Given the description of an element on the screen output the (x, y) to click on. 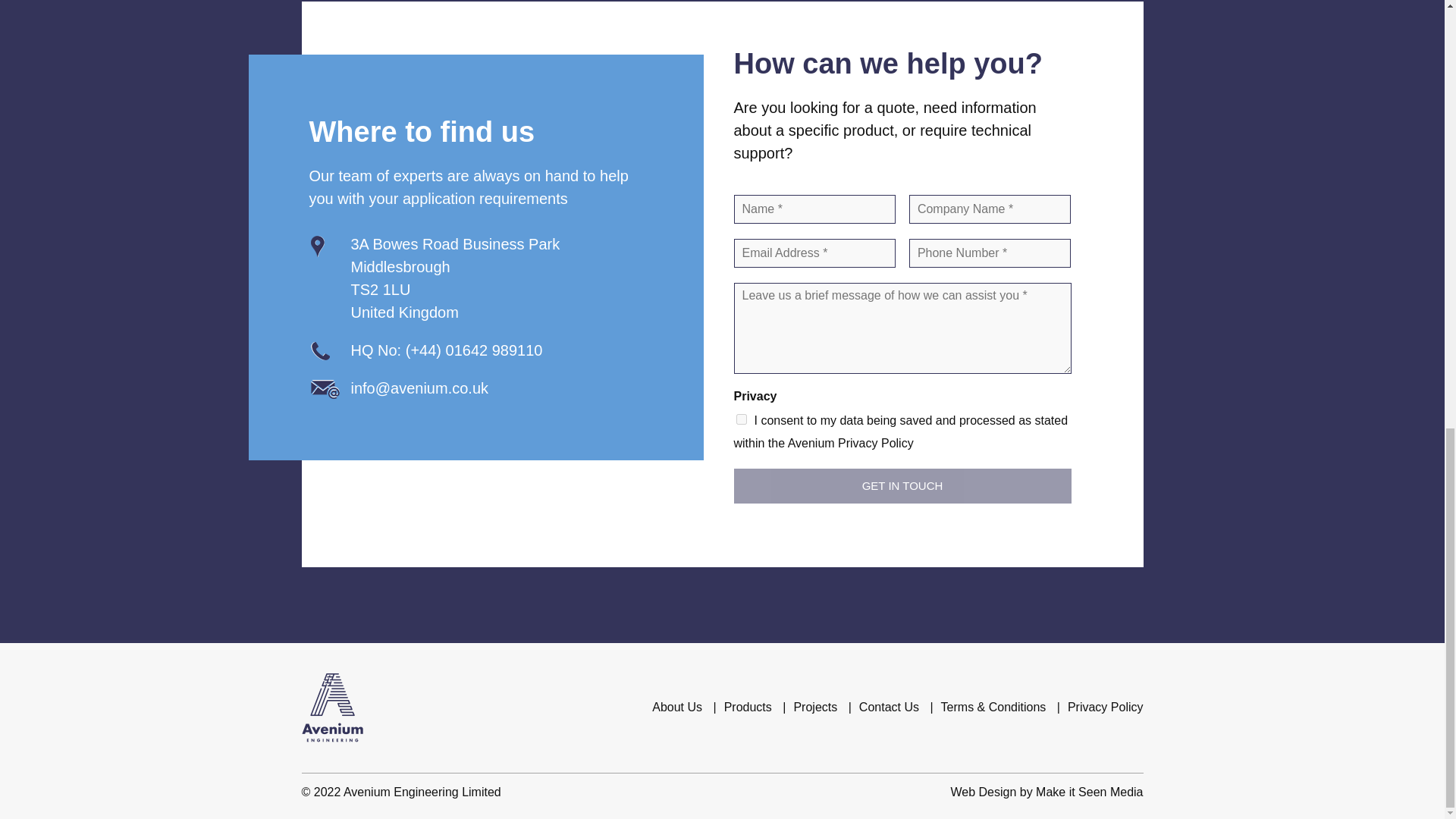
Projects (815, 707)
Contact Us (888, 707)
Products (747, 707)
Avenium Engineering (331, 707)
About Us (676, 707)
GET IN TOUCH (902, 485)
Web Design (983, 791)
Privacy Policy (1104, 707)
